Given the description of an element on the screen output the (x, y) to click on. 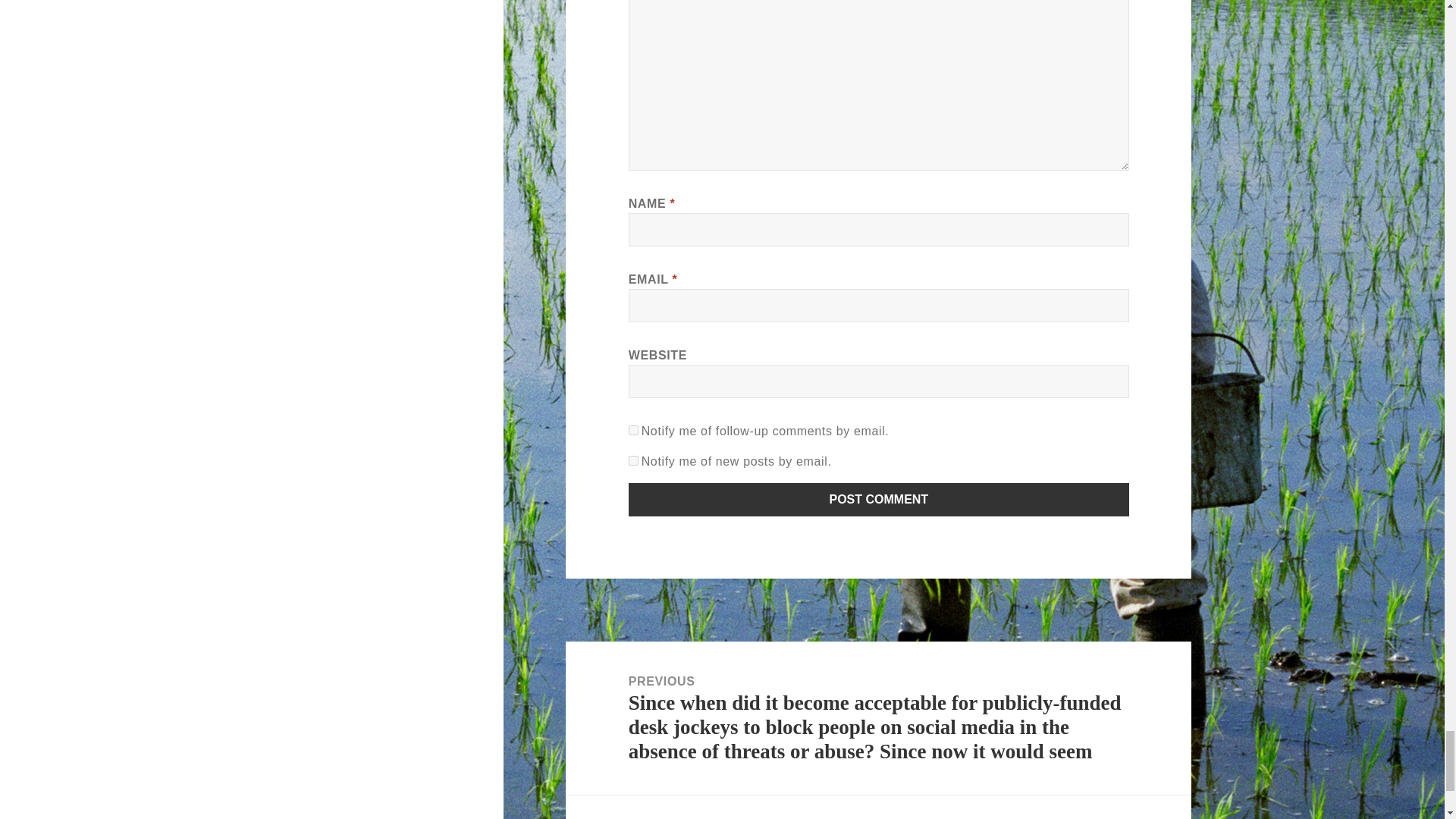
Post Comment (878, 499)
subscribe (633, 460)
subscribe (633, 429)
